Given the description of an element on the screen output the (x, y) to click on. 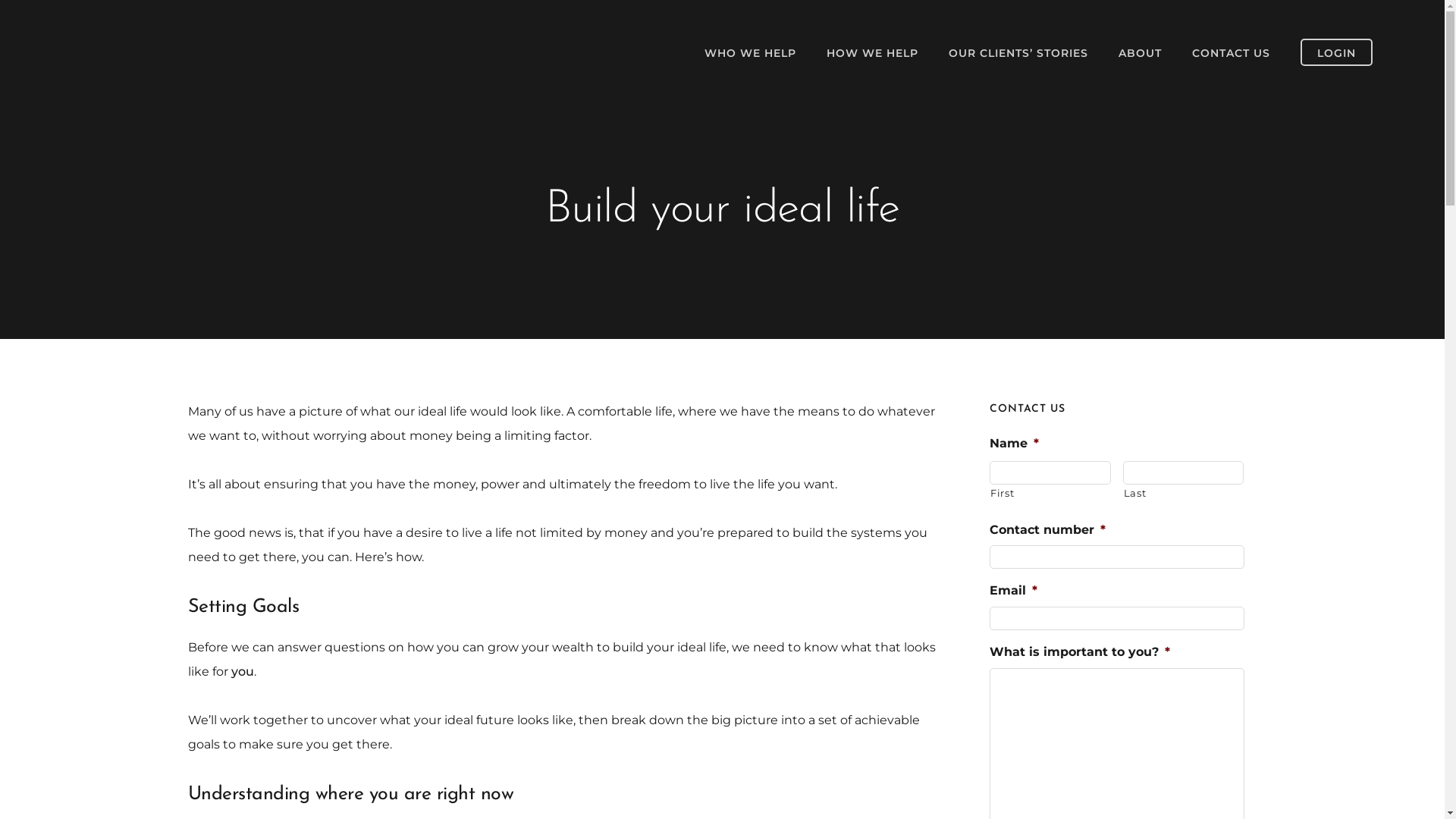
HOW WE HELP Element type: text (872, 53)
WHO WE HELP Element type: text (750, 53)
ABOUT Element type: text (1139, 53)
Flourix Wealth Element type: text (151, 54)
LOGIN Element type: text (1336, 51)
CONTACT US Element type: text (1231, 53)
Skip to primary navigation Element type: text (0, 0)
